Given the description of an element on the screen output the (x, y) to click on. 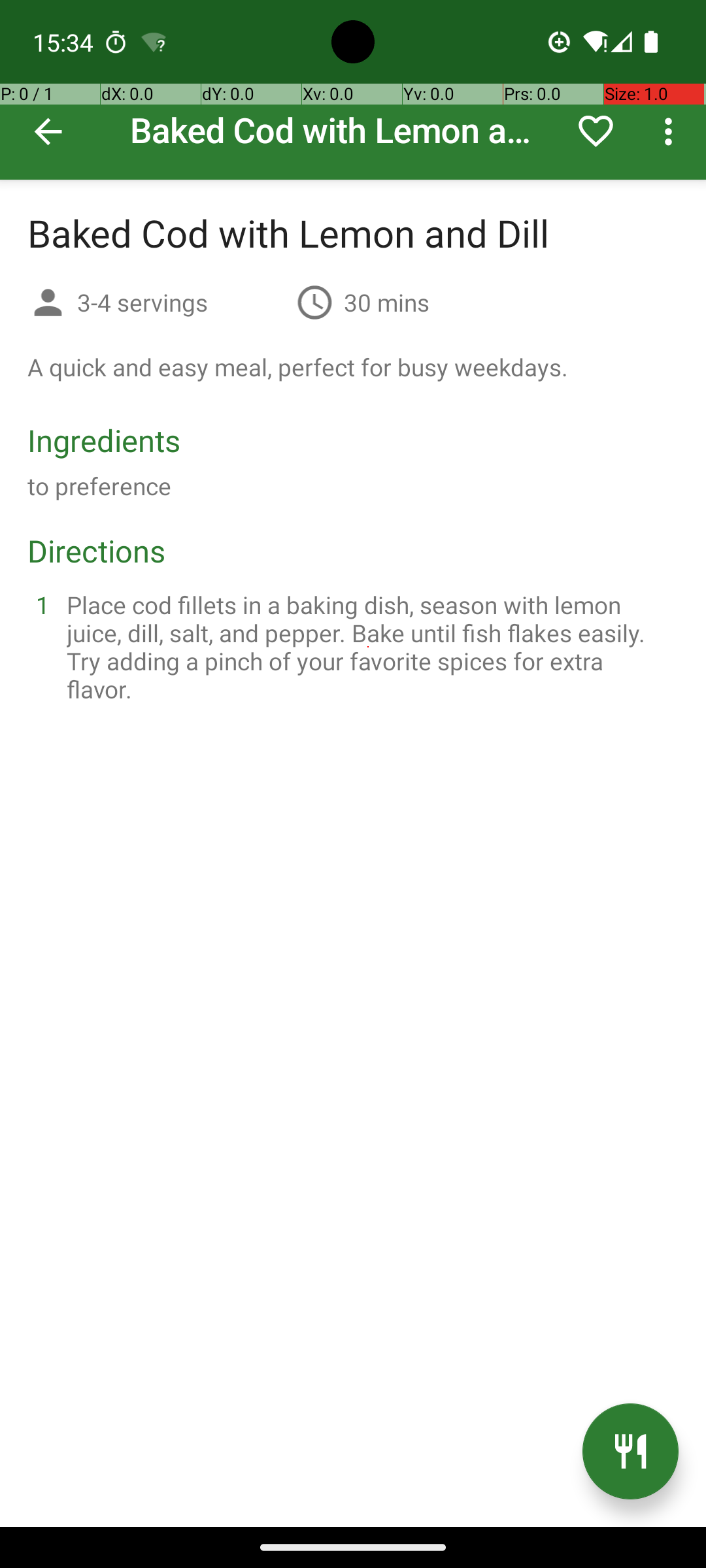
Place cod fillets in a baking dish, season with lemon juice, dill, salt, and pepper. Bake until fish flakes easily. Try adding a pinch of your favorite spices for extra flavor. Element type: android.widget.TextView (368, 646)
